Given the description of an element on the screen output the (x, y) to click on. 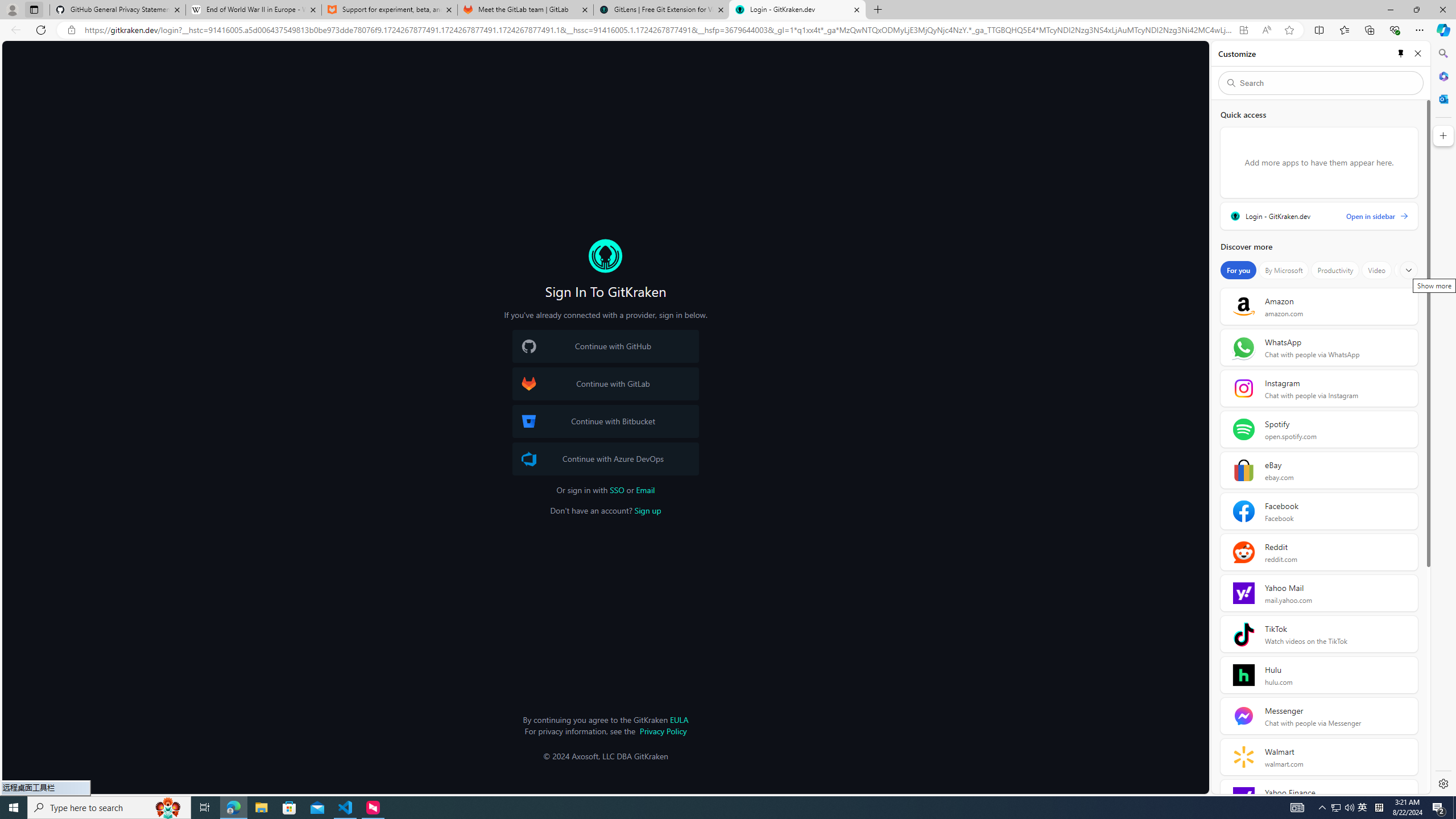
GitLens | Free Git Extension for Visual Studio Code (660, 9)
App available. Install GitKraken.dev (1243, 29)
Unpin side pane (1401, 53)
SSO (617, 489)
Bitbucket Logo (528, 421)
GitLab Logo Continue with GitLab (605, 383)
